Given the description of an element on the screen output the (x, y) to click on. 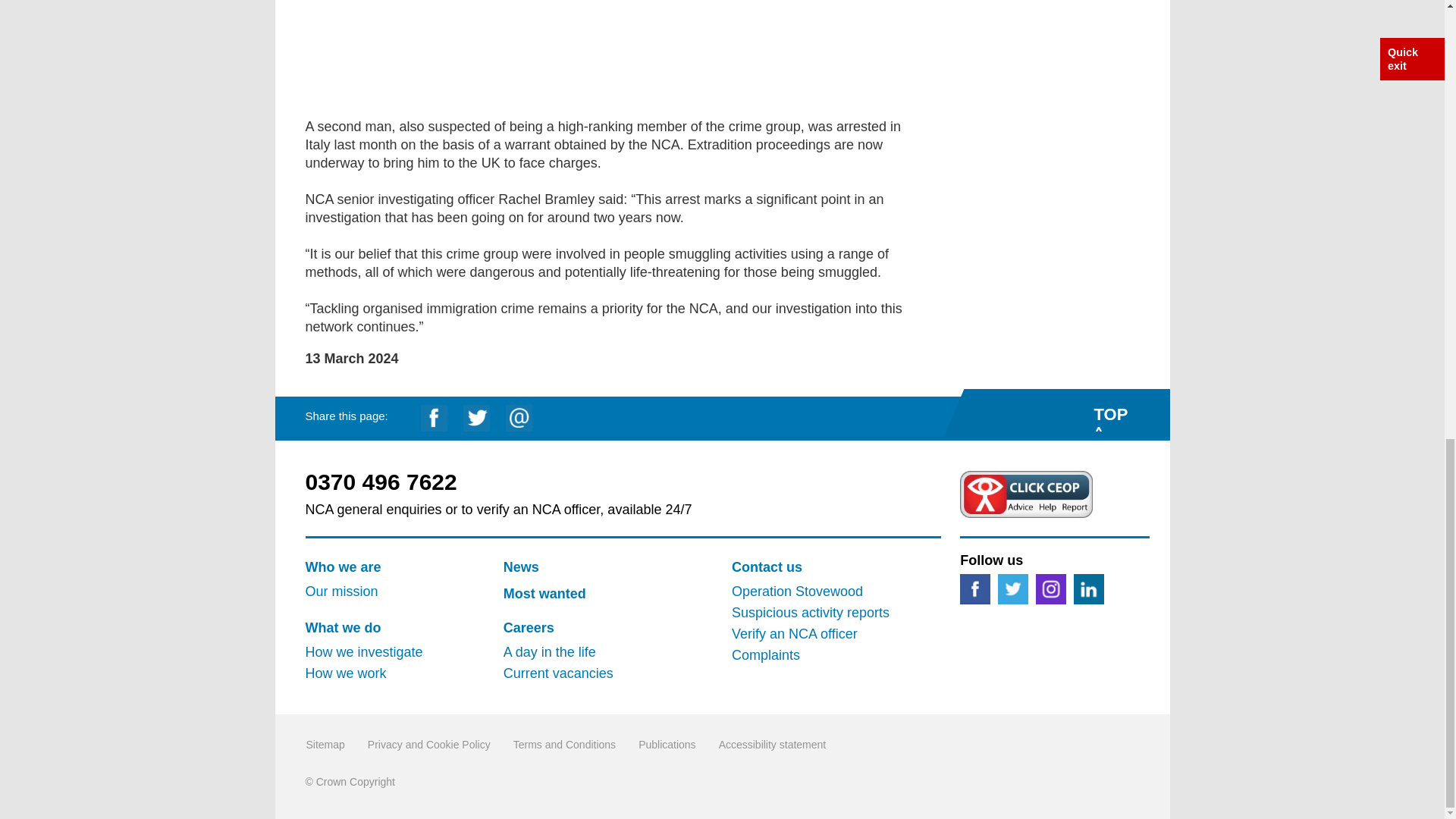
Twitter (1012, 588)
LinkedIn (1088, 588)
Instagram (1050, 588)
Facebook (974, 588)
